Given the description of an element on the screen output the (x, y) to click on. 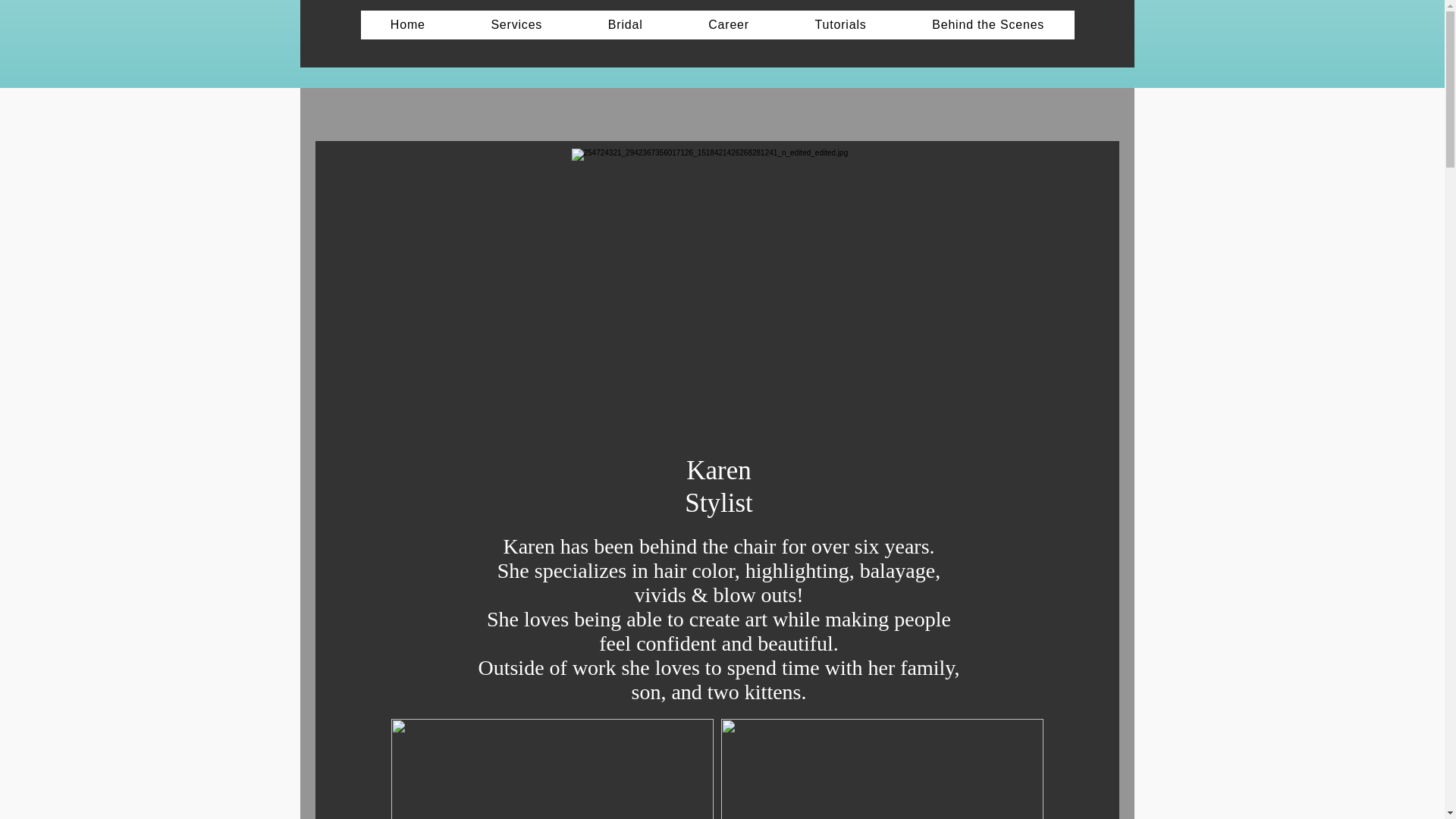
Tutorials (840, 24)
Services (516, 24)
Bridal (624, 24)
Behind the Scenes (988, 24)
Career (728, 24)
Home (408, 24)
